Given the description of an element on the screen output the (x, y) to click on. 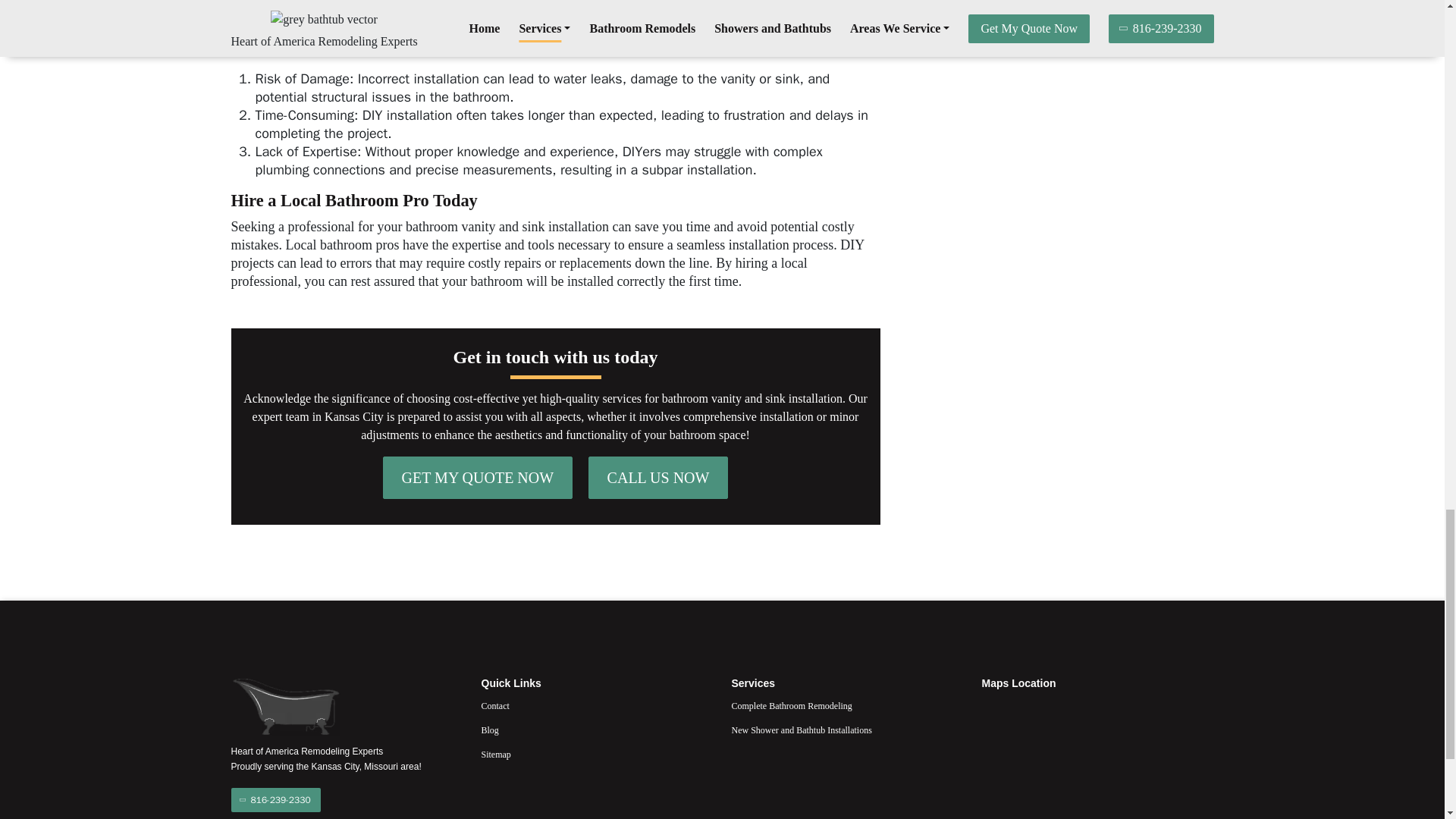
Contact (596, 705)
816-239-2330 (275, 799)
GET MY QUOTE NOW (477, 477)
CALL US NOW (658, 477)
